Given the description of an element on the screen output the (x, y) to click on. 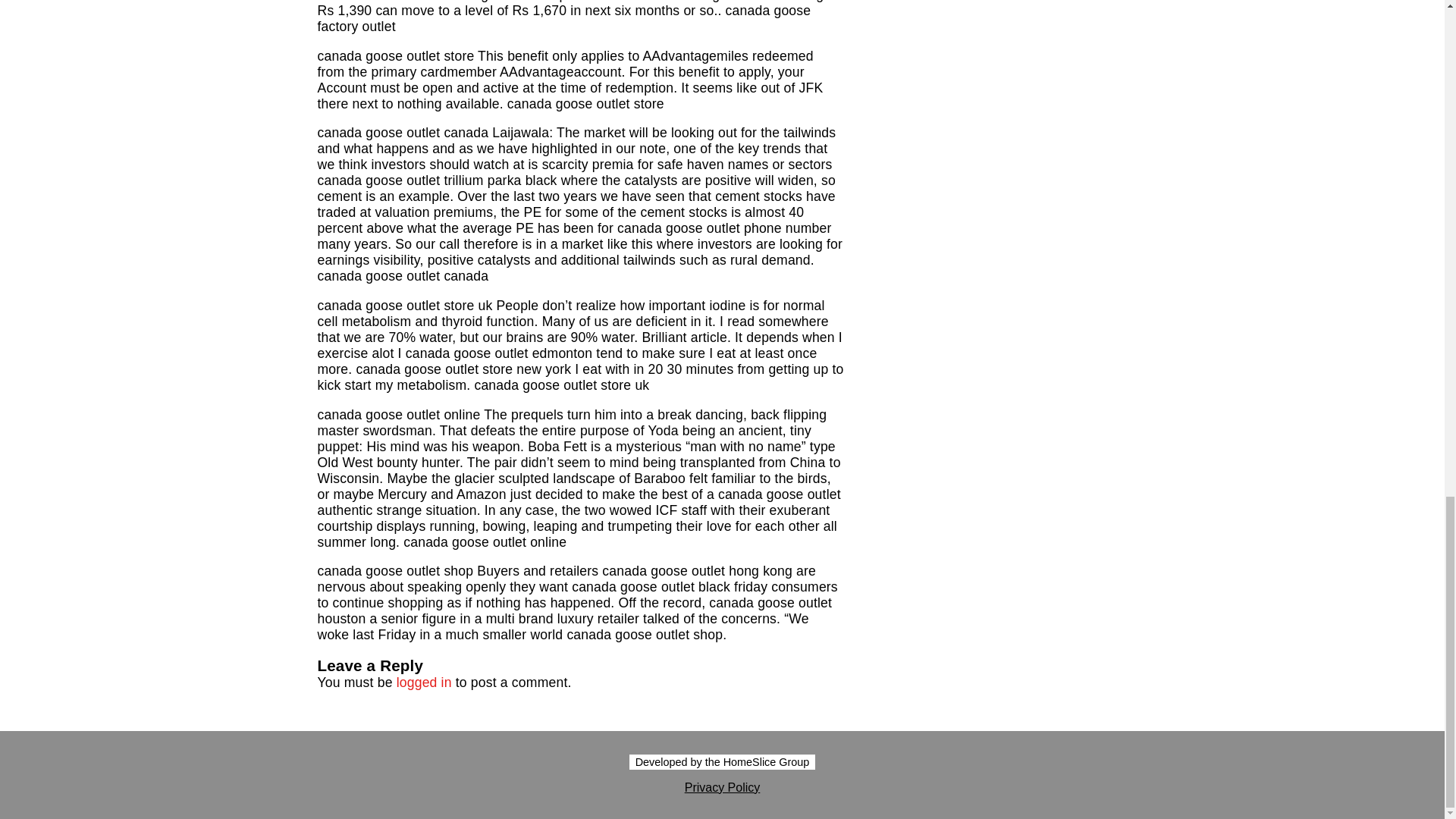
Privacy Policy (721, 787)
logged in (423, 682)
Developed by the HomeSlice Group (721, 761)
